Given the description of an element on the screen output the (x, y) to click on. 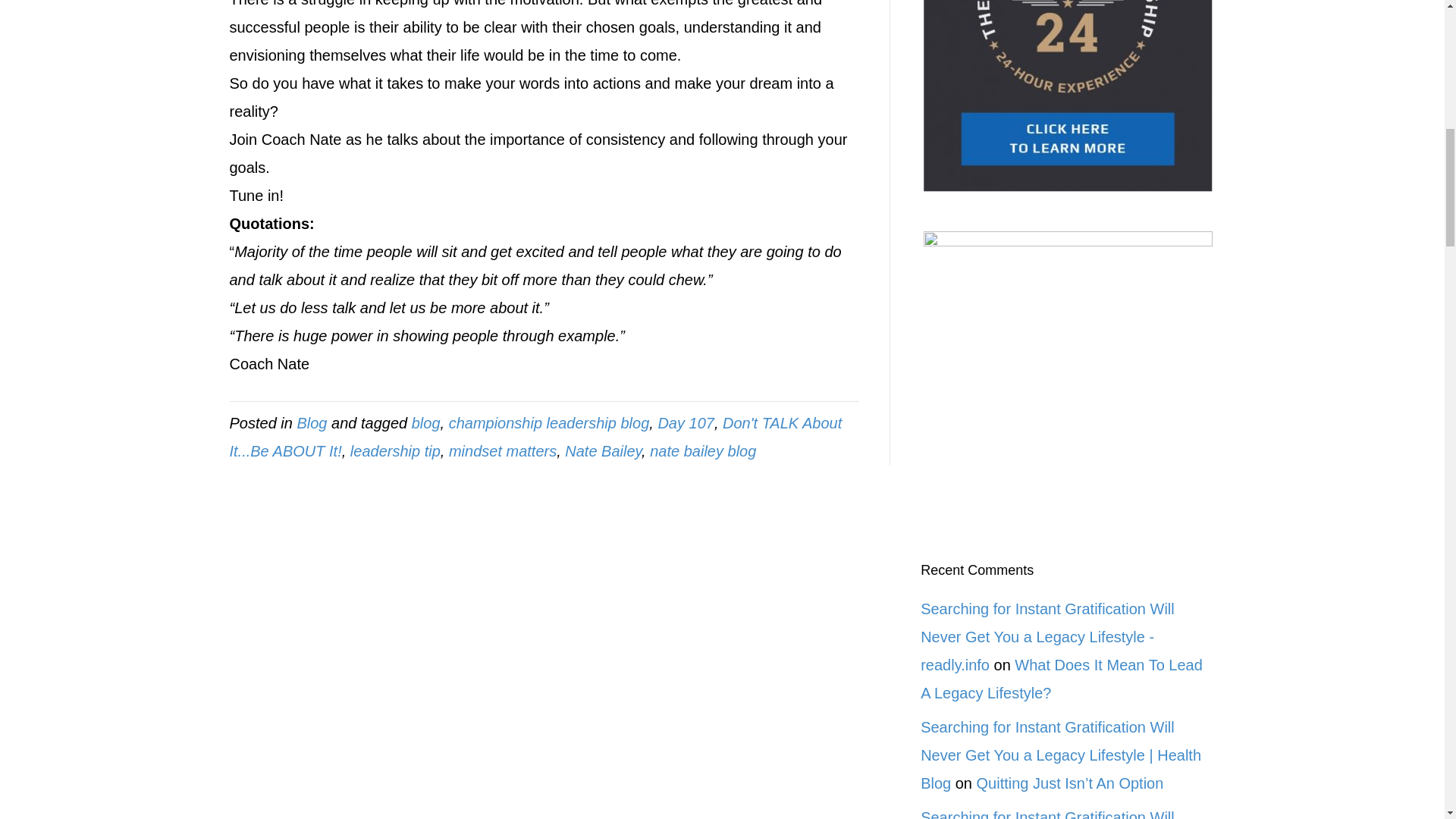
nate bailey blog (702, 451)
Day 107 (686, 422)
blog (426, 422)
championship leadership blog (548, 422)
mindset matters (502, 451)
Nate Bailey (603, 451)
leadership tip (395, 451)
Don't TALK About It...Be ABOUT It! (534, 436)
Blog (311, 422)
What Does It Mean To Lead A Legacy Lifestyle? (1061, 678)
